Given the description of an element on the screen output the (x, y) to click on. 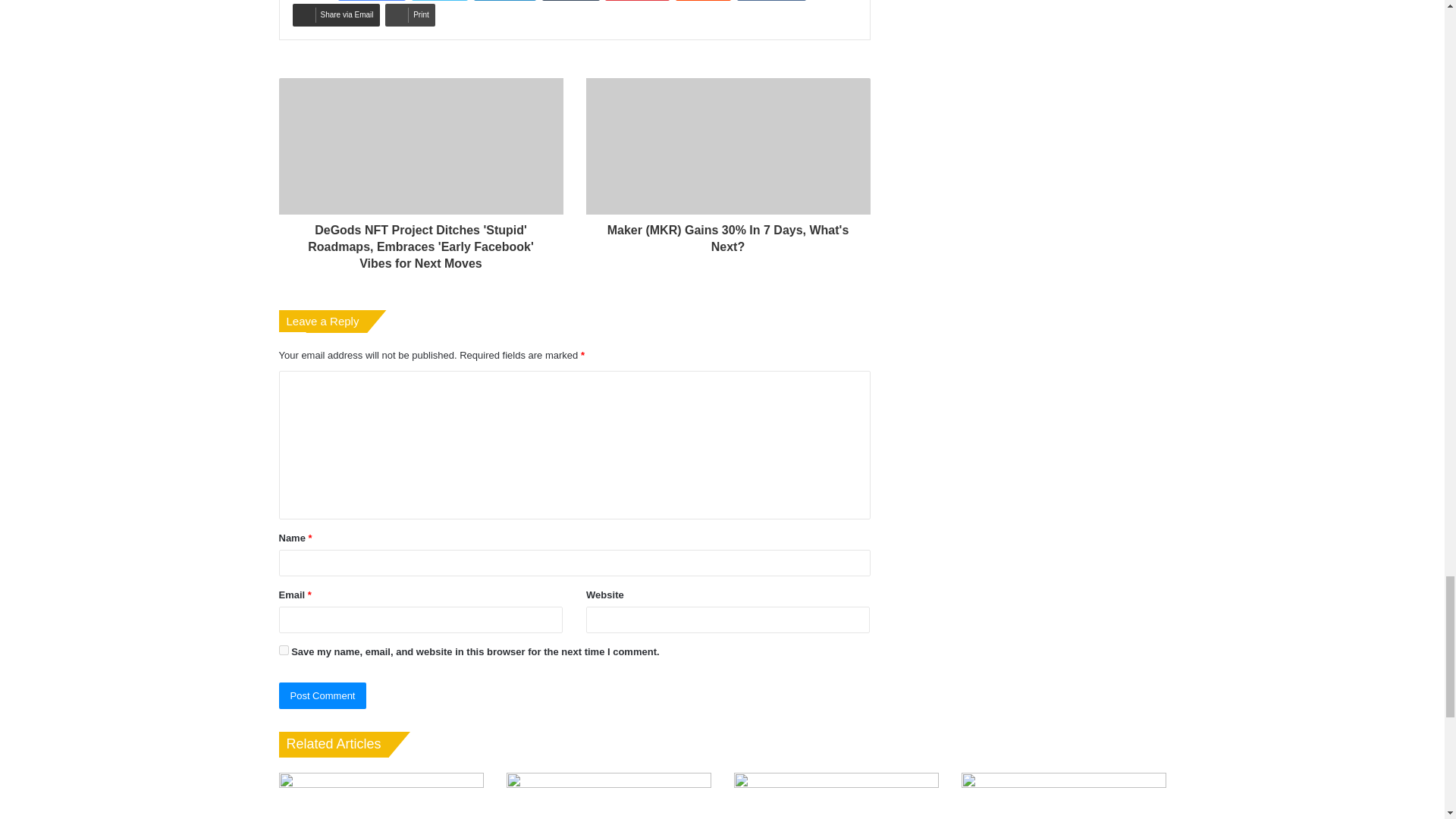
yes (283, 650)
Post Comment (322, 695)
